Given the description of an element on the screen output the (x, y) to click on. 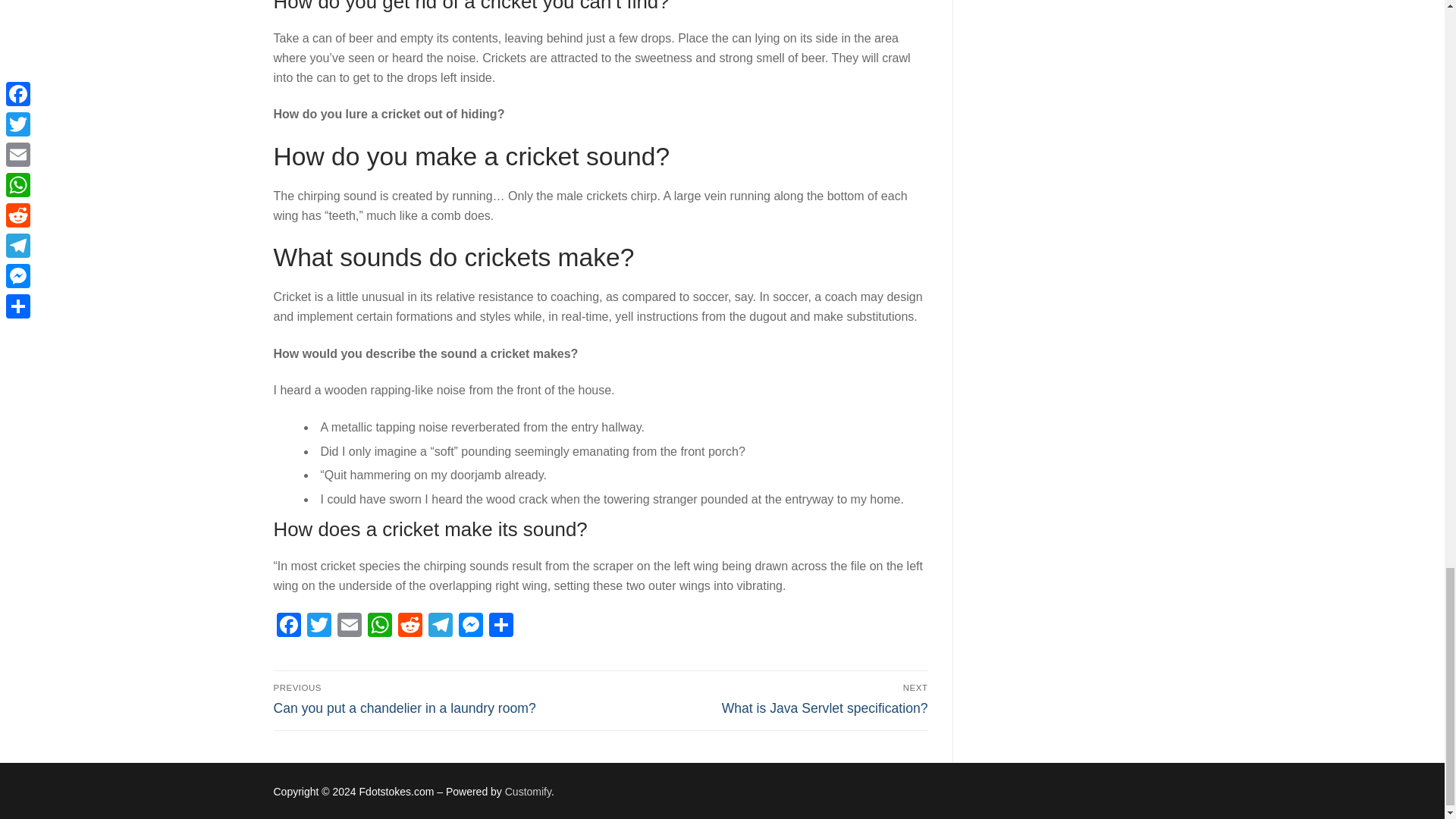
Facebook (287, 626)
Twitter (317, 626)
Email (348, 626)
Email (348, 626)
Facebook (287, 626)
WhatsApp (379, 626)
Twitter (317, 626)
